Given the description of an element on the screen output the (x, y) to click on. 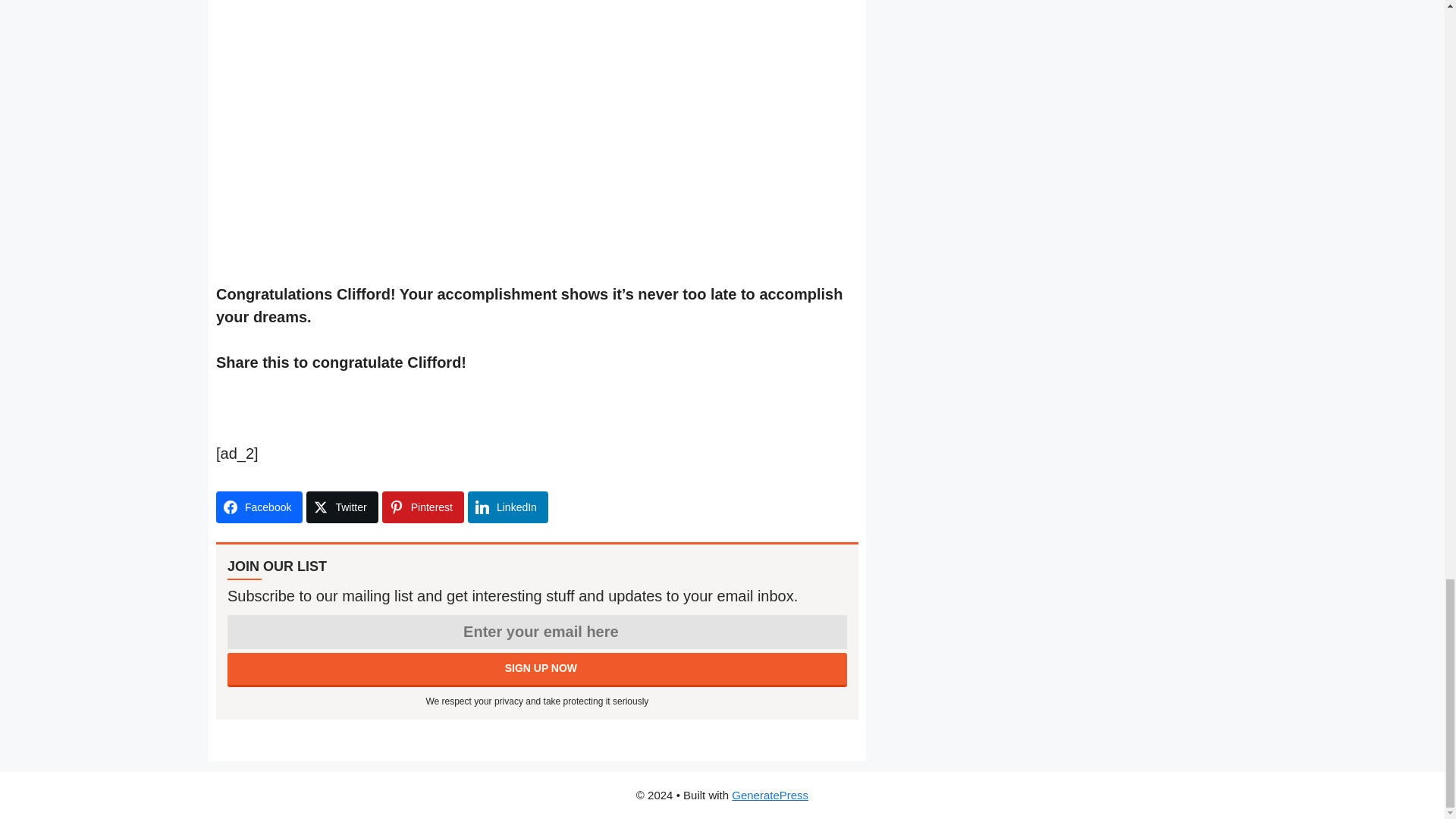
GeneratePress (770, 794)
Sign Up Now (537, 669)
Facebook (258, 507)
LinkedIn (507, 507)
Pinterest (422, 507)
Share on Twitter (341, 507)
Share on LinkedIn (507, 507)
Share on Pinterest (422, 507)
Share on Facebook (258, 507)
Sign Up Now (537, 669)
Twitter (341, 507)
